Given the description of an element on the screen output the (x, y) to click on. 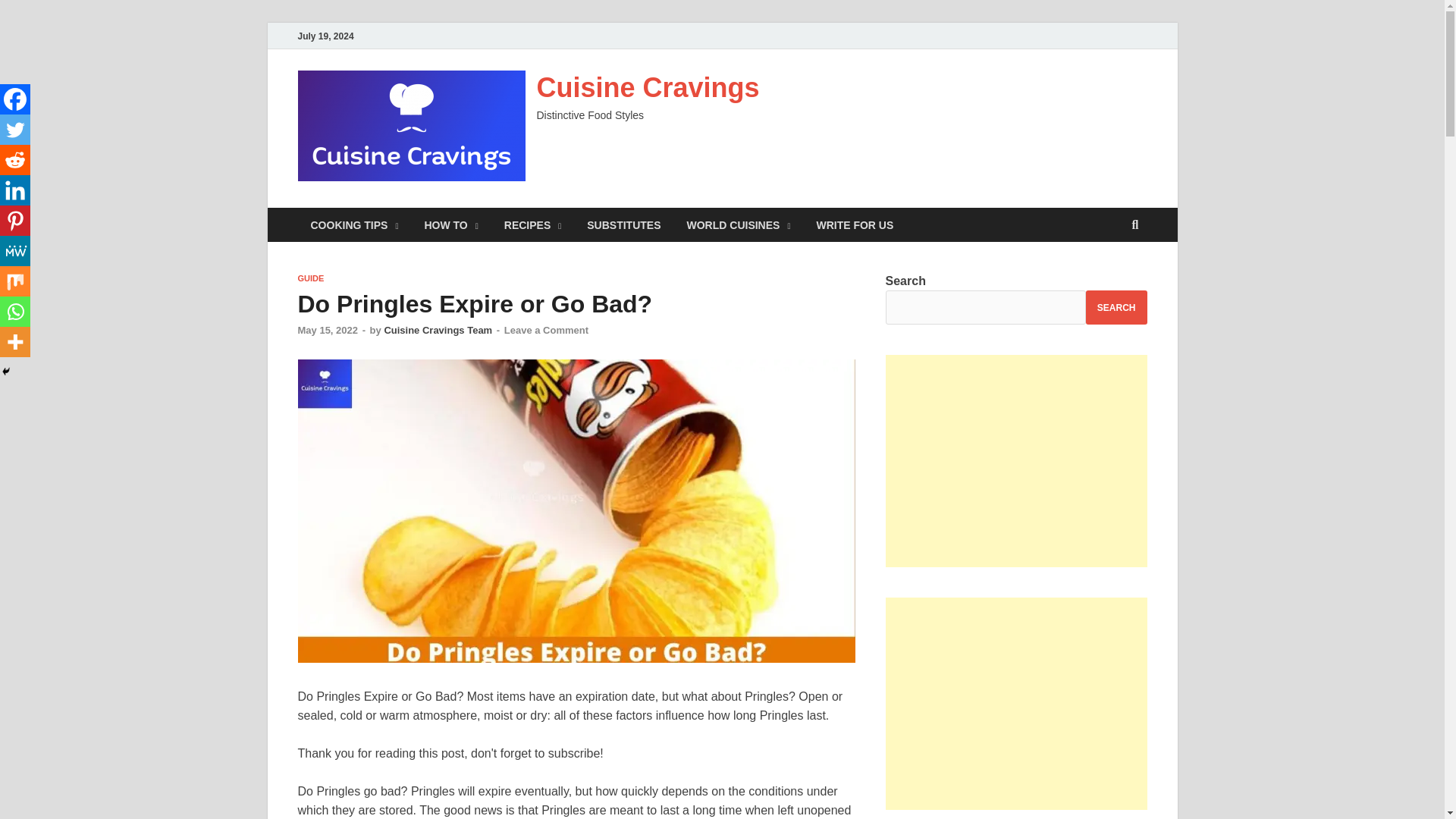
WRITE FOR US (854, 224)
SUBSTITUTES (622, 224)
Cuisine Cravings (648, 87)
WORLD CUISINES (737, 224)
HOW TO (450, 224)
RECIPES (533, 224)
COOKING TIPS (353, 224)
